Given the description of an element on the screen output the (x, y) to click on. 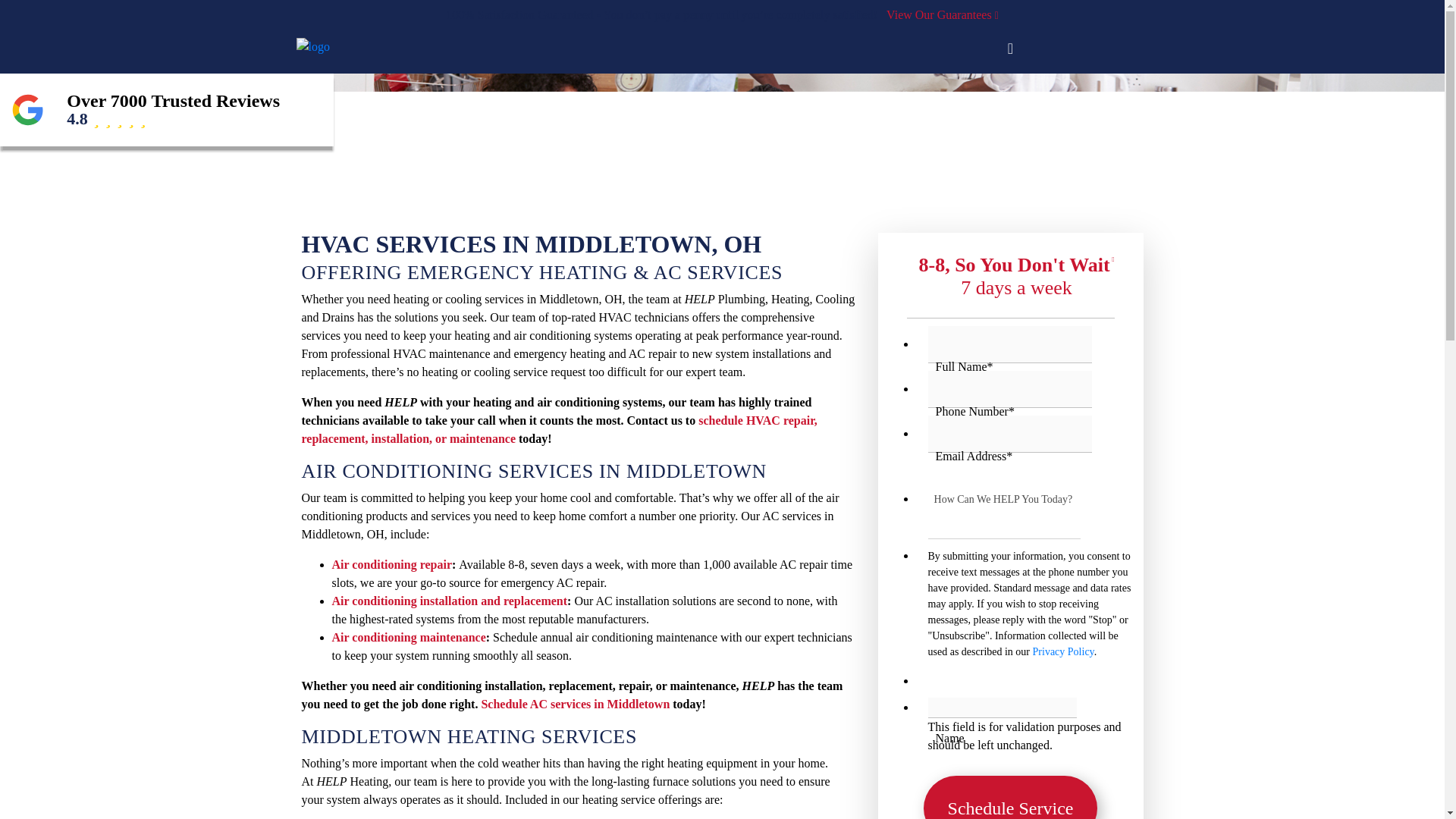
Schedule Service (1010, 797)
View Our Guarantees (939, 14)
